Given the description of an element on the screen output the (x, y) to click on. 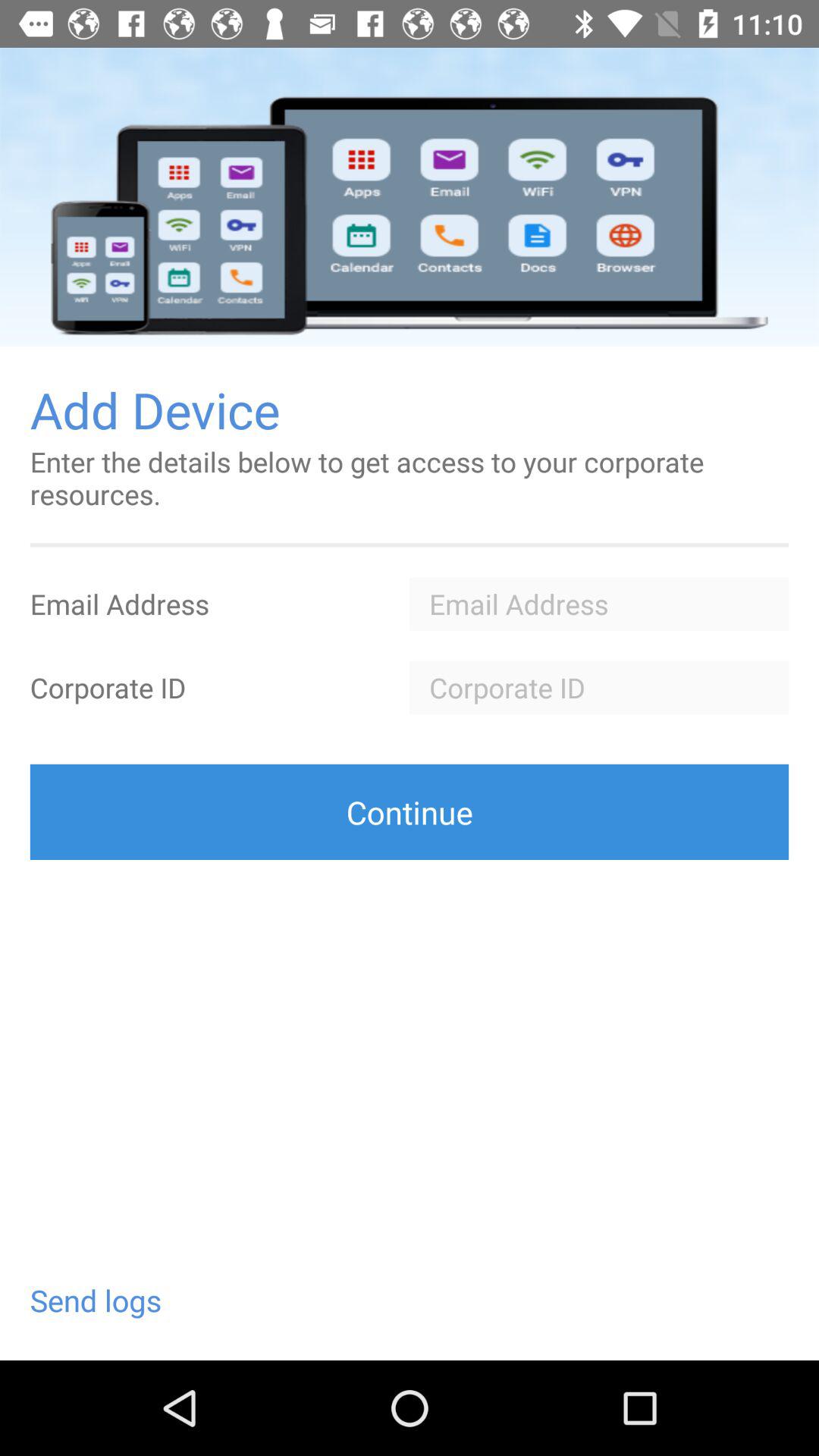
press the icon above the send logs icon (409, 811)
